Given the description of an element on the screen output the (x, y) to click on. 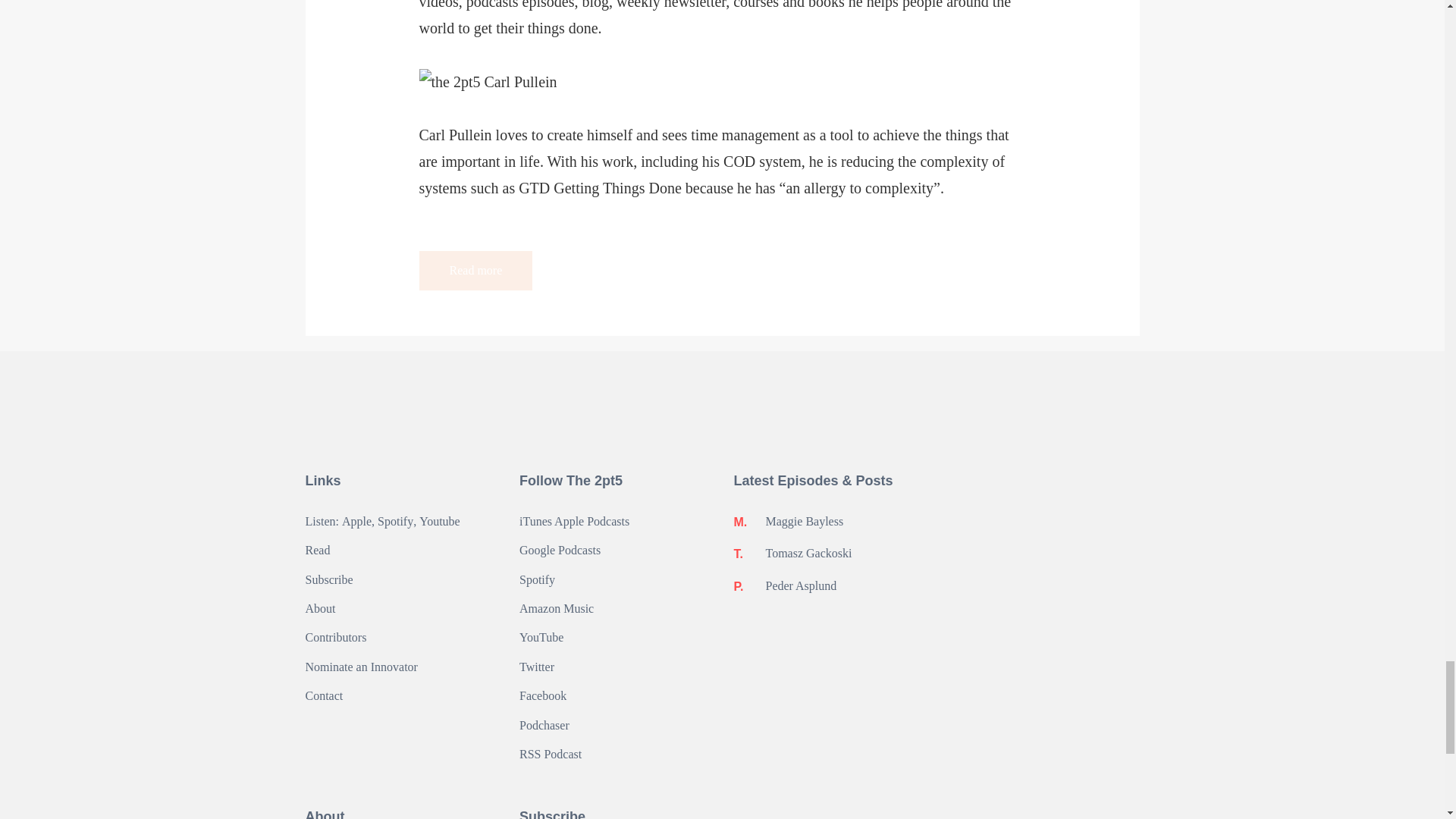
Nominate an Innovator (360, 667)
iTunes Apple Podcasts (573, 521)
Youtube (439, 521)
Read (317, 550)
About (319, 608)
Apple (356, 521)
Spotify (395, 521)
Google Podcasts (559, 550)
Contributors (335, 637)
Contact (323, 695)
Spotify (536, 579)
Subscribe (328, 579)
Amazon Music (556, 608)
Read more (475, 270)
